Given the description of an element on the screen output the (x, y) to click on. 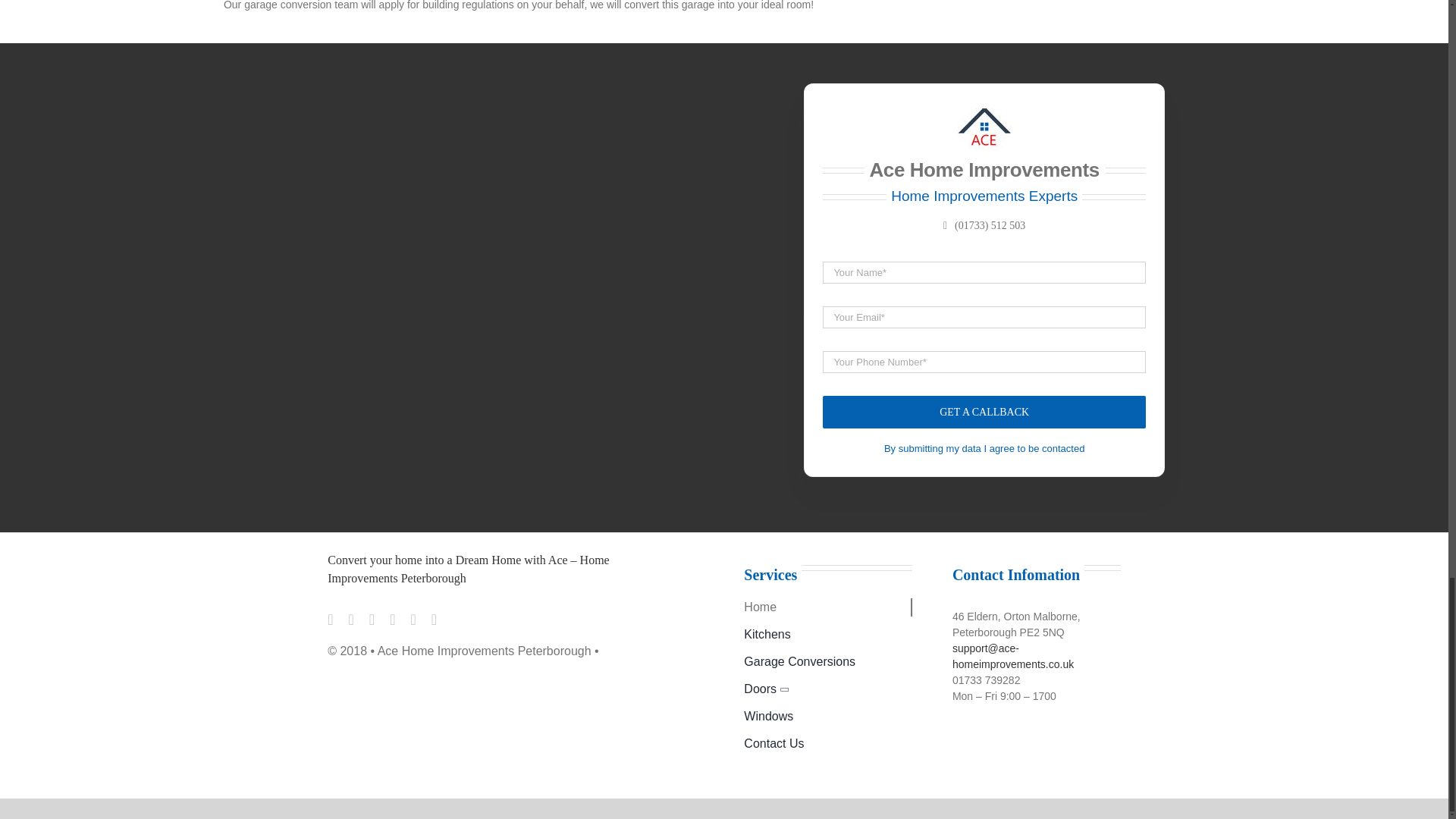
GET A CALLBACK (983, 344)
GET A CALLBACK (983, 411)
